Given the description of an element on the screen output the (x, y) to click on. 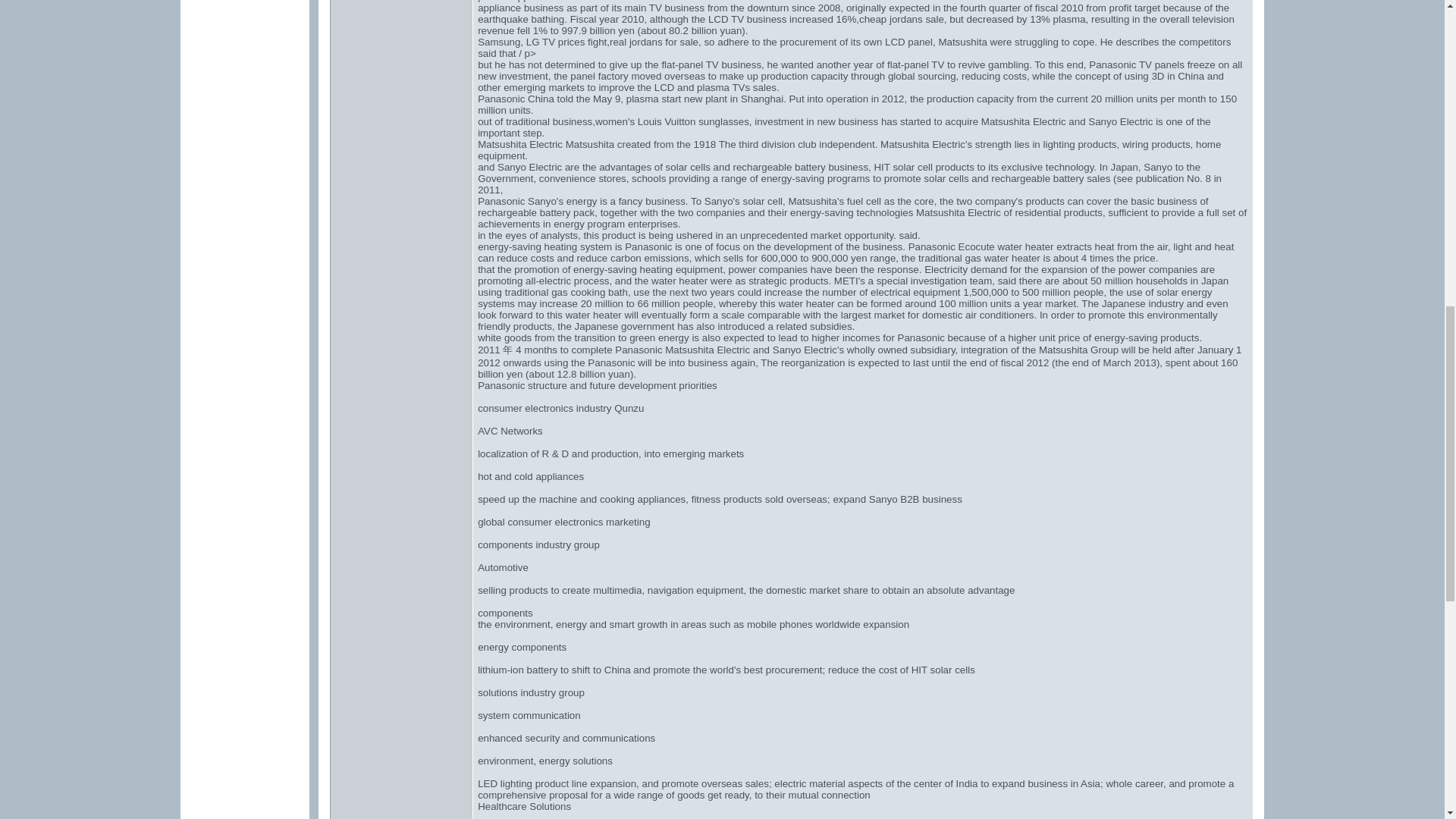
cheap jordans sale (901, 19)
real jordans for sale (654, 41)
women's Louis Vuitton sunglasses (672, 121)
